Given the description of an element on the screen output the (x, y) to click on. 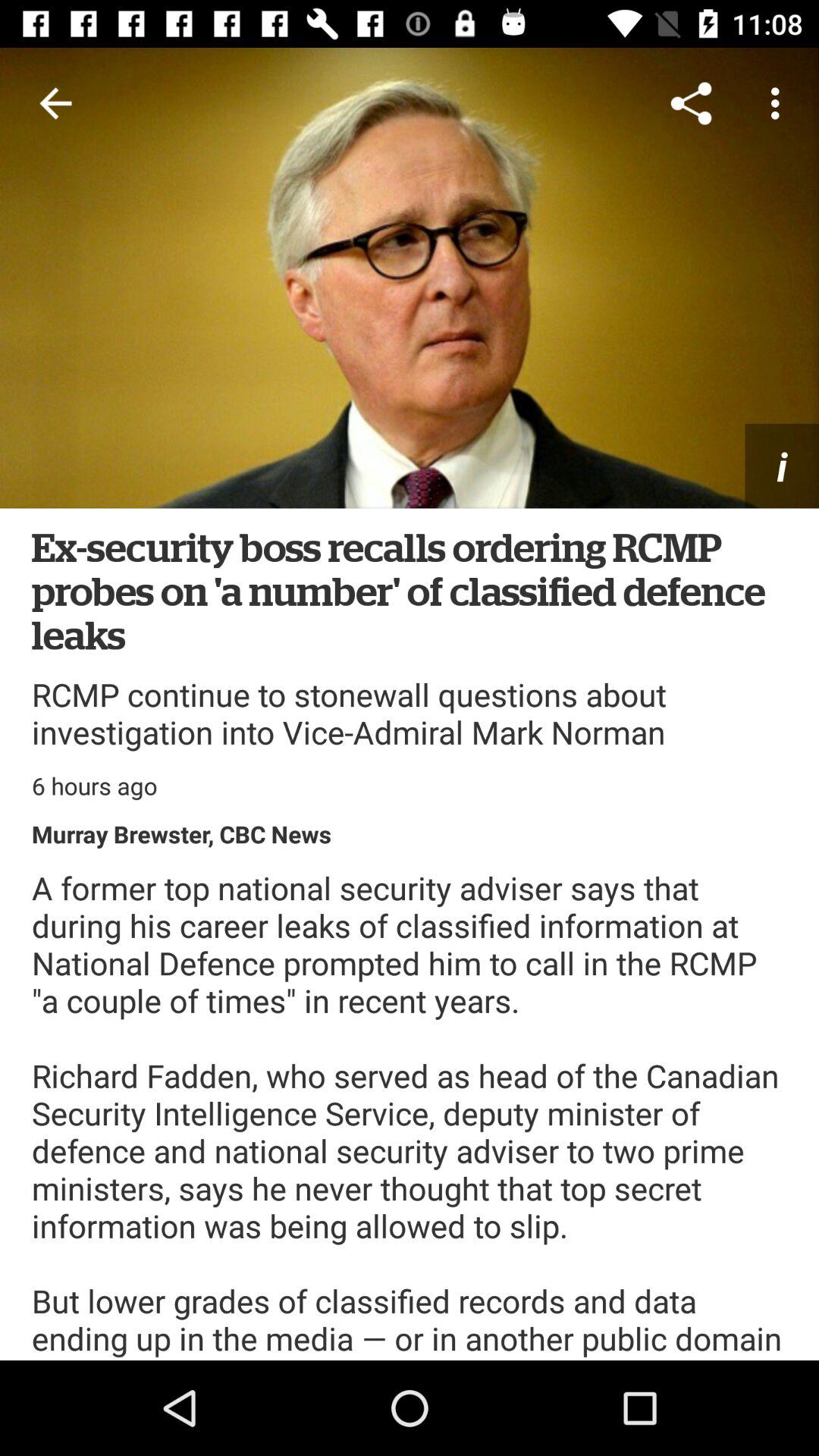
click the icon below the 6 hours ago icon (181, 833)
